Given the description of an element on the screen output the (x, y) to click on. 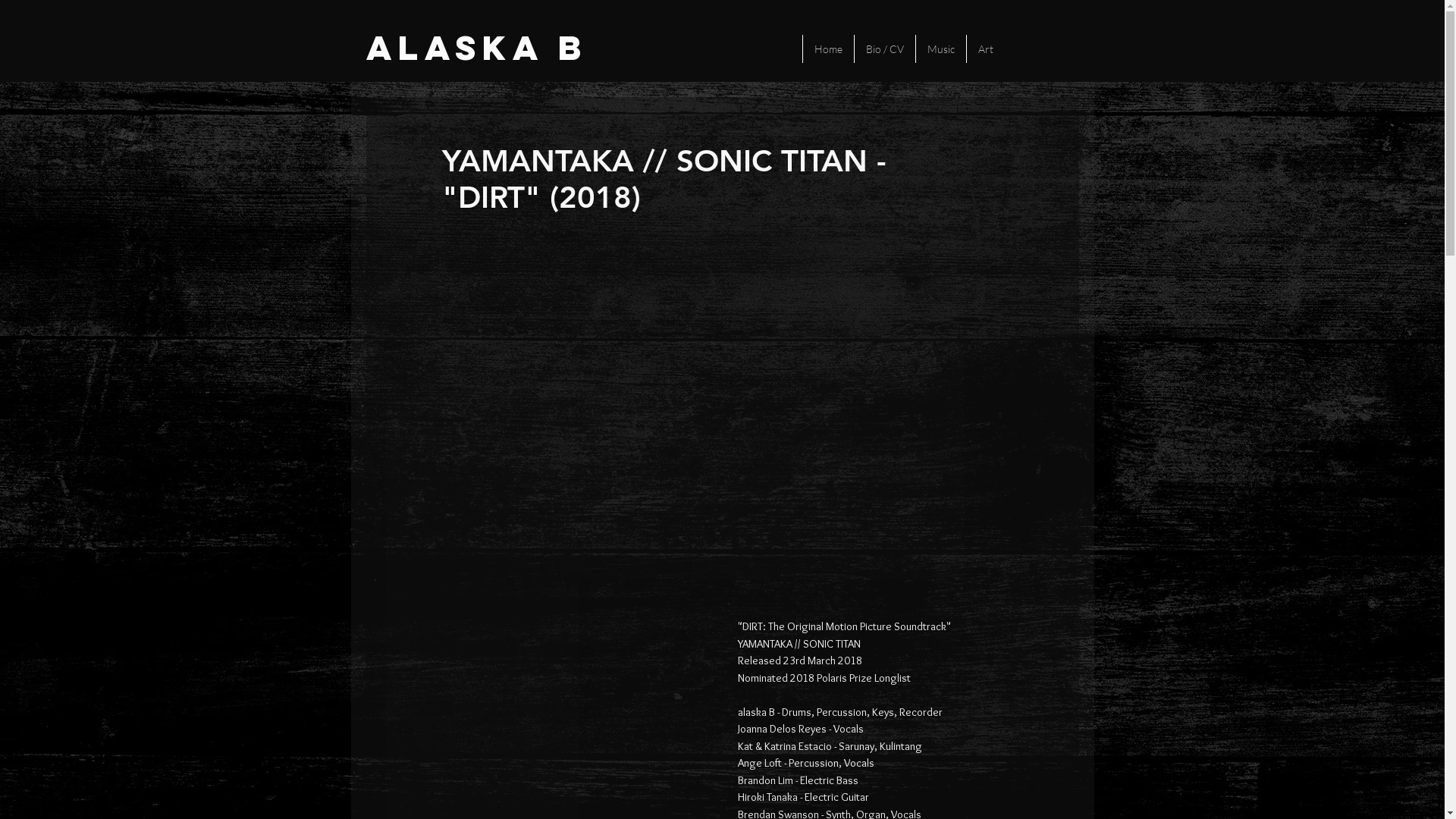
Music Element type: text (940, 48)
Art Element type: text (985, 48)
Home Element type: text (827, 48)
Bio / CV Element type: text (884, 48)
